Given the description of an element on the screen output the (x, y) to click on. 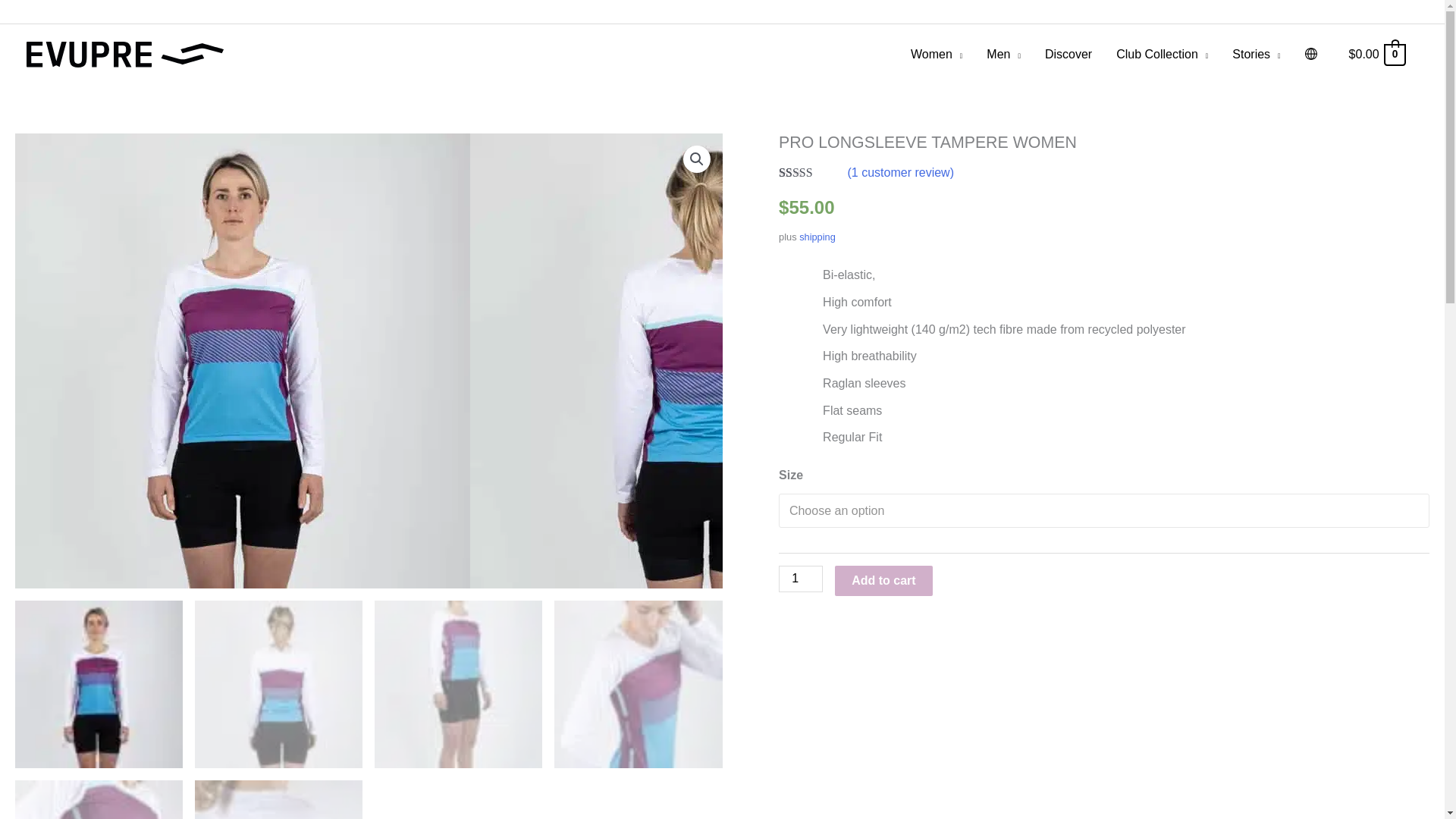
1 (800, 578)
Discover (1067, 54)
Club Collection (1161, 54)
Men (1003, 54)
Women (936, 54)
